Given the description of an element on the screen output the (x, y) to click on. 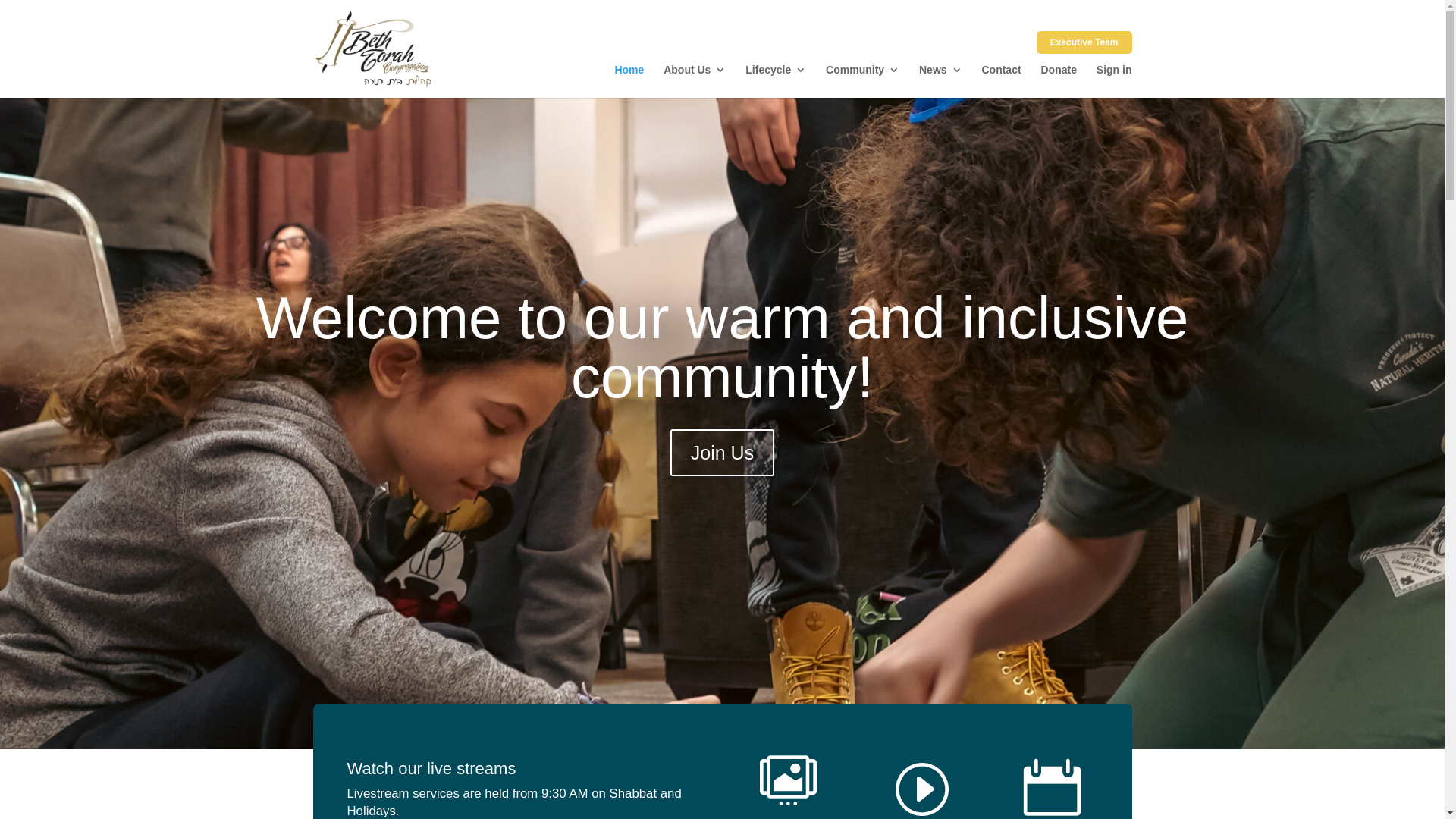
News Element type: text (940, 80)
Donate Element type: text (868, 45)
Home Element type: text (628, 80)
Join Element type: text (829, 45)
Board of Directors / Trustees Element type: text (959, 45)
Welcome to our warm and inclusive community! Element type: text (722, 347)
I Element type: text (919, 787)
About Us Element type: text (694, 80)
Donate Element type: text (1058, 80)
Executive Team Element type: text (1084, 42)
Contact Element type: text (1000, 80)
Join Us Element type: text (722, 452)
Community Element type: text (862, 80)
Sign In Element type: text (790, 45)
Lifecycle Element type: text (775, 80)
Sign in Element type: text (1114, 80)
